Given the description of an element on the screen output the (x, y) to click on. 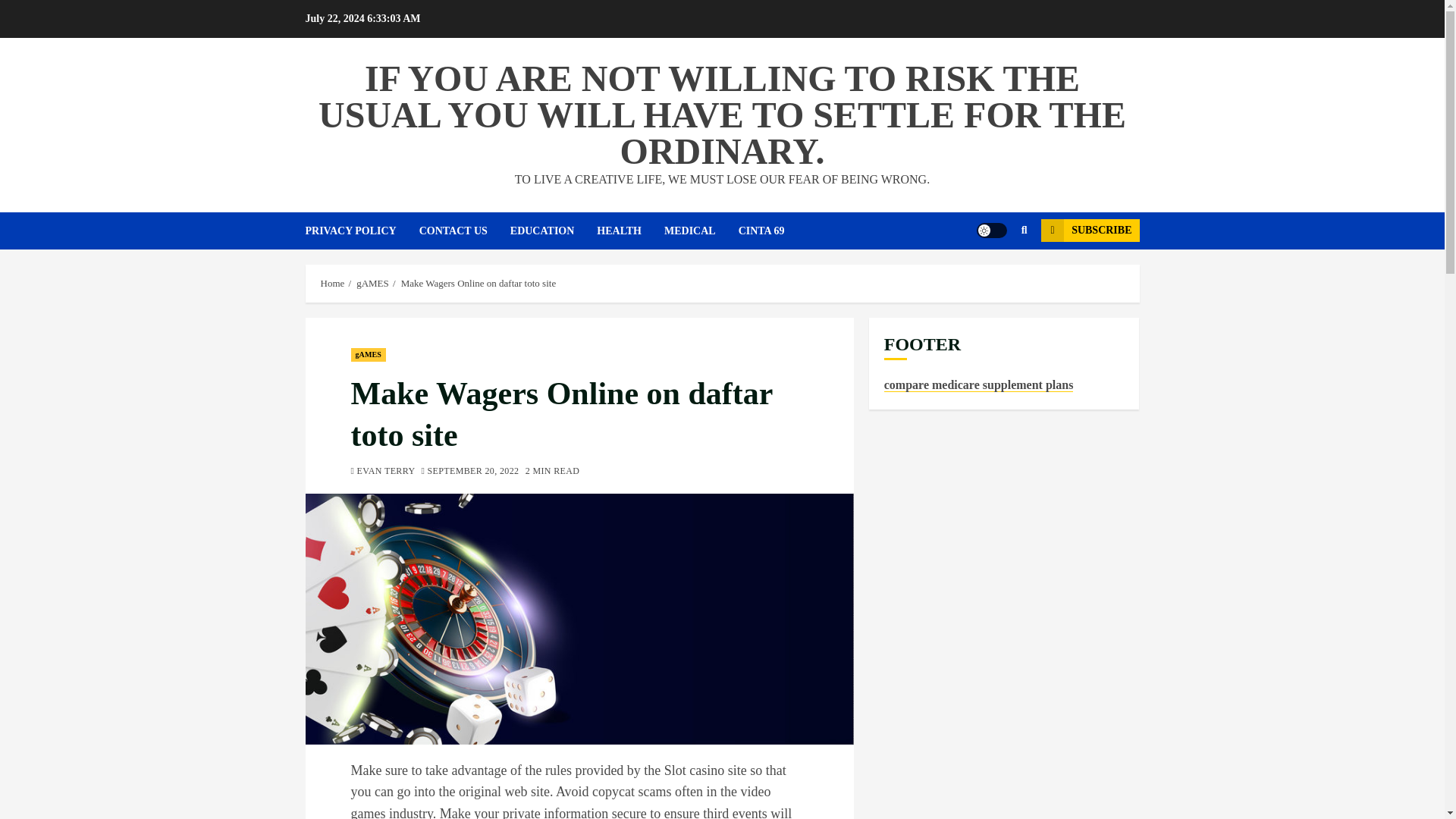
HEALTH (629, 230)
Make Wagers Online on daftar toto site (478, 283)
EVAN TERRY (382, 472)
SUBSCRIBE (1089, 230)
CINTA 69 (773, 230)
EDUCATION (553, 230)
compare medicare supplement plans (978, 385)
gAMES (367, 354)
Search (994, 276)
PRIVACY POLICY (361, 230)
Home (331, 283)
gAMES (372, 283)
CONTACT US (465, 230)
MEDICAL (700, 230)
